Given the description of an element on the screen output the (x, y) to click on. 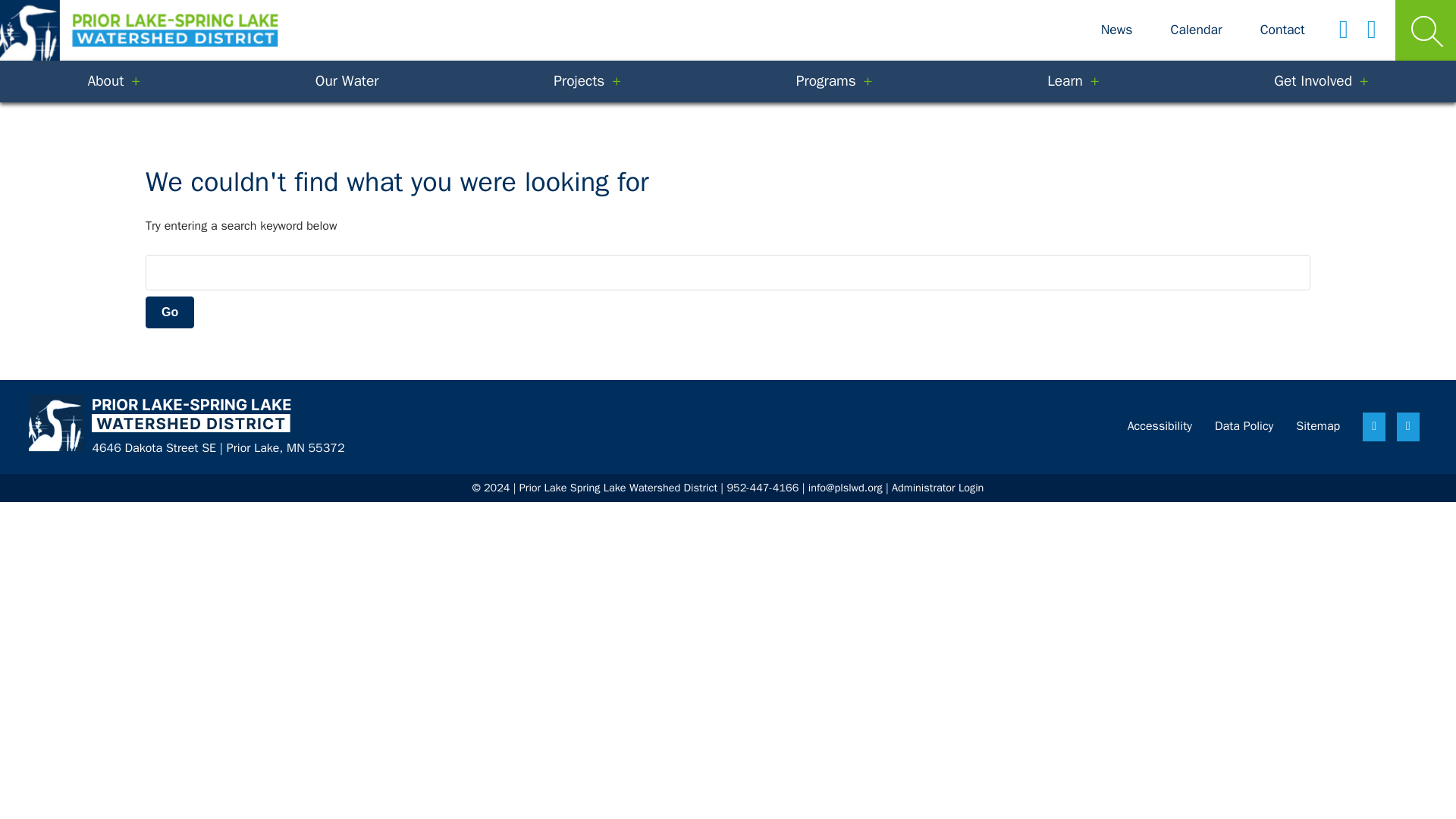
Projects (587, 81)
Go (169, 312)
Calendar (1195, 29)
About (113, 81)
Our Water (346, 81)
Programs (833, 81)
Contact (1282, 29)
News (1116, 29)
Go (169, 312)
Learn (1072, 81)
